Given the description of an element on the screen output the (x, y) to click on. 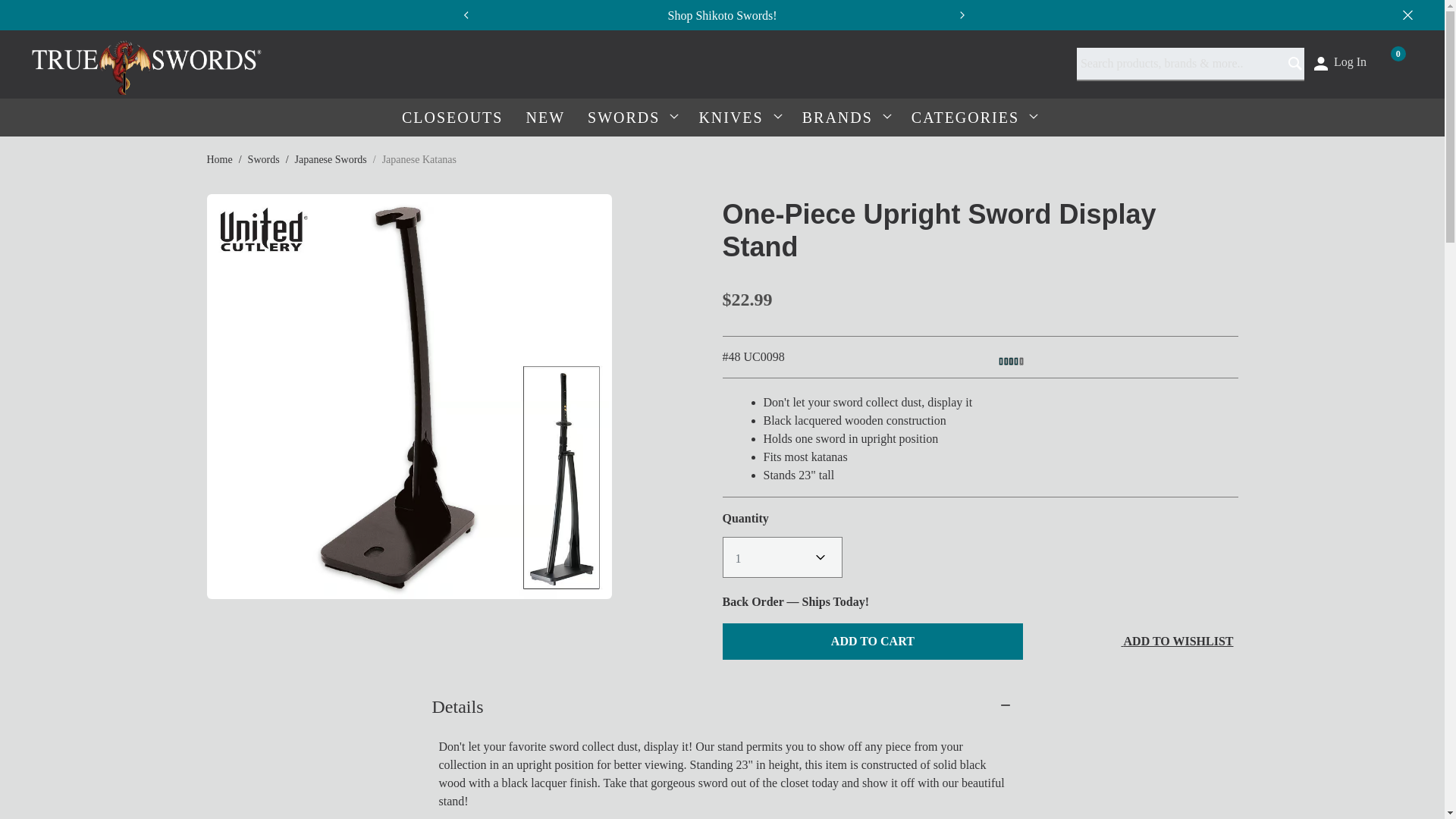
Previous (464, 15)
CLOSEOUTS (452, 117)
Shop Shikoto Swords! (721, 15)
NEW (545, 117)
Cart 0 Items (1395, 60)
0 (1395, 60)
Log In (1339, 60)
Next (970, 15)
Commerce Cloud Storefront Reference Architecture Home (146, 64)
